Given the description of an element on the screen output the (x, y) to click on. 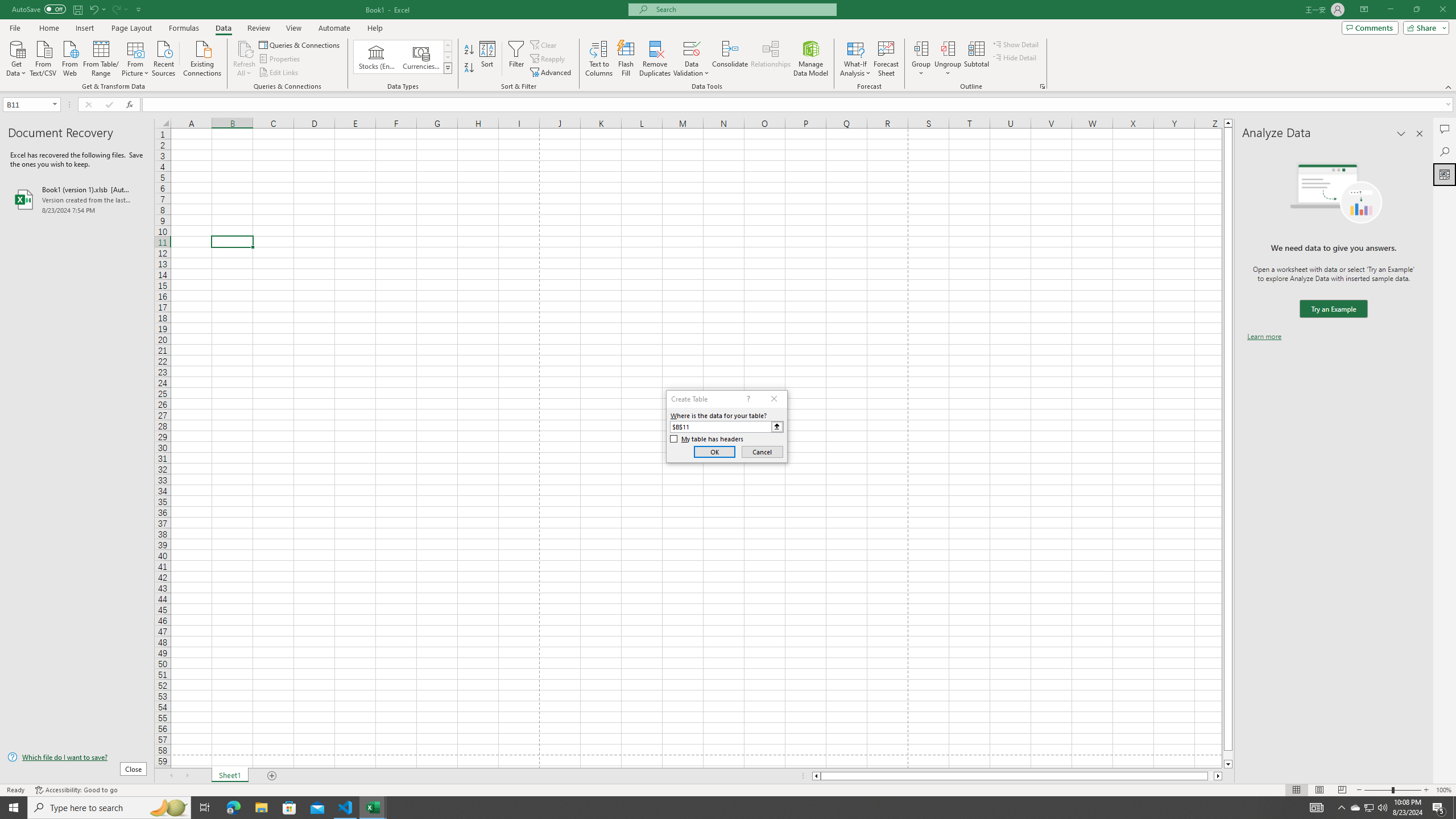
From Web (69, 57)
Hide Detail (1014, 56)
What-If Analysis (855, 58)
Sort A to Z (469, 49)
